Given the description of an element on the screen output the (x, y) to click on. 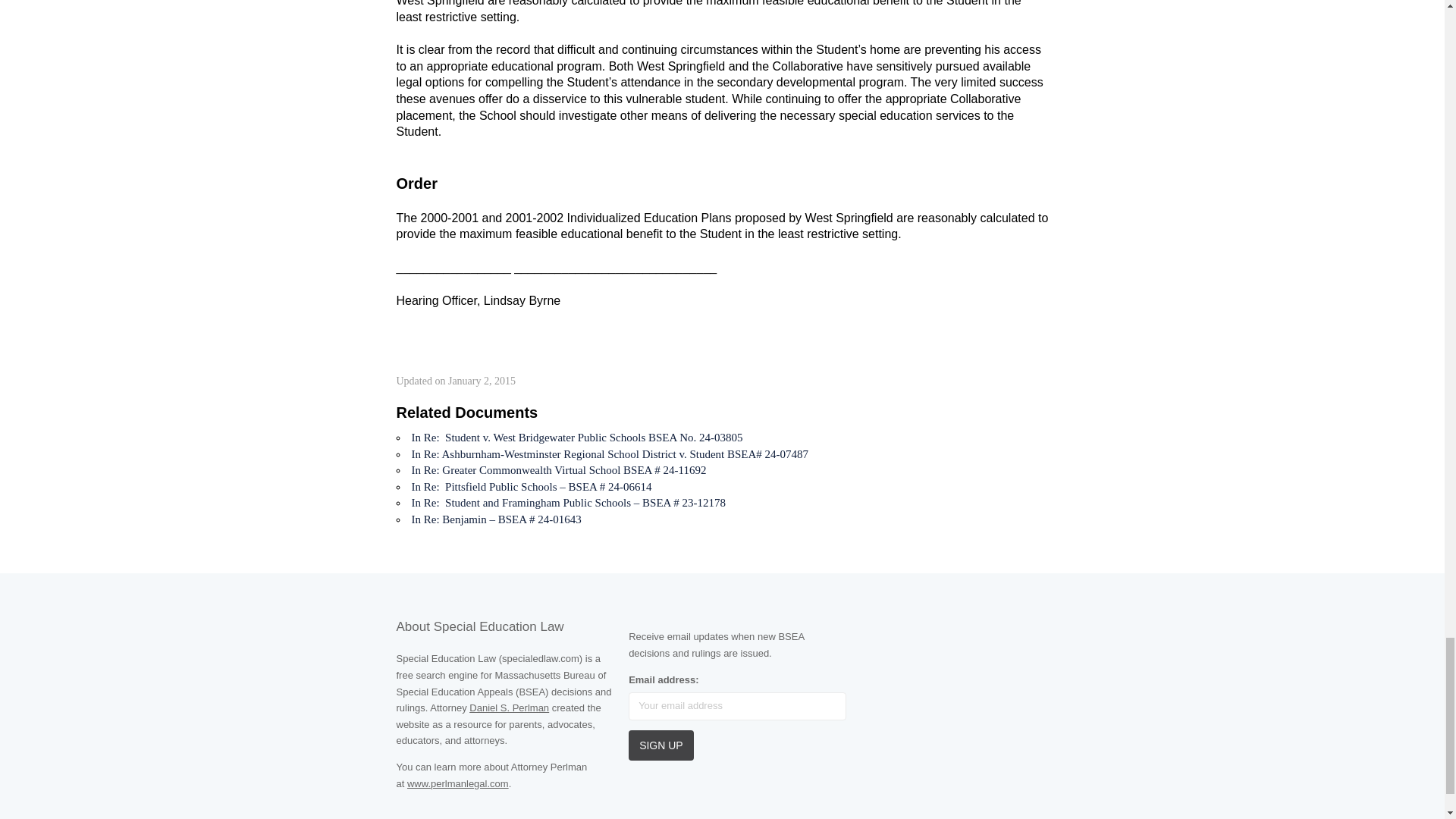
www.perlmanlegal.com (457, 783)
Sign up (661, 745)
Sign up (661, 745)
Daniel S. Perlman (508, 707)
